Given the description of an element on the screen output the (x, y) to click on. 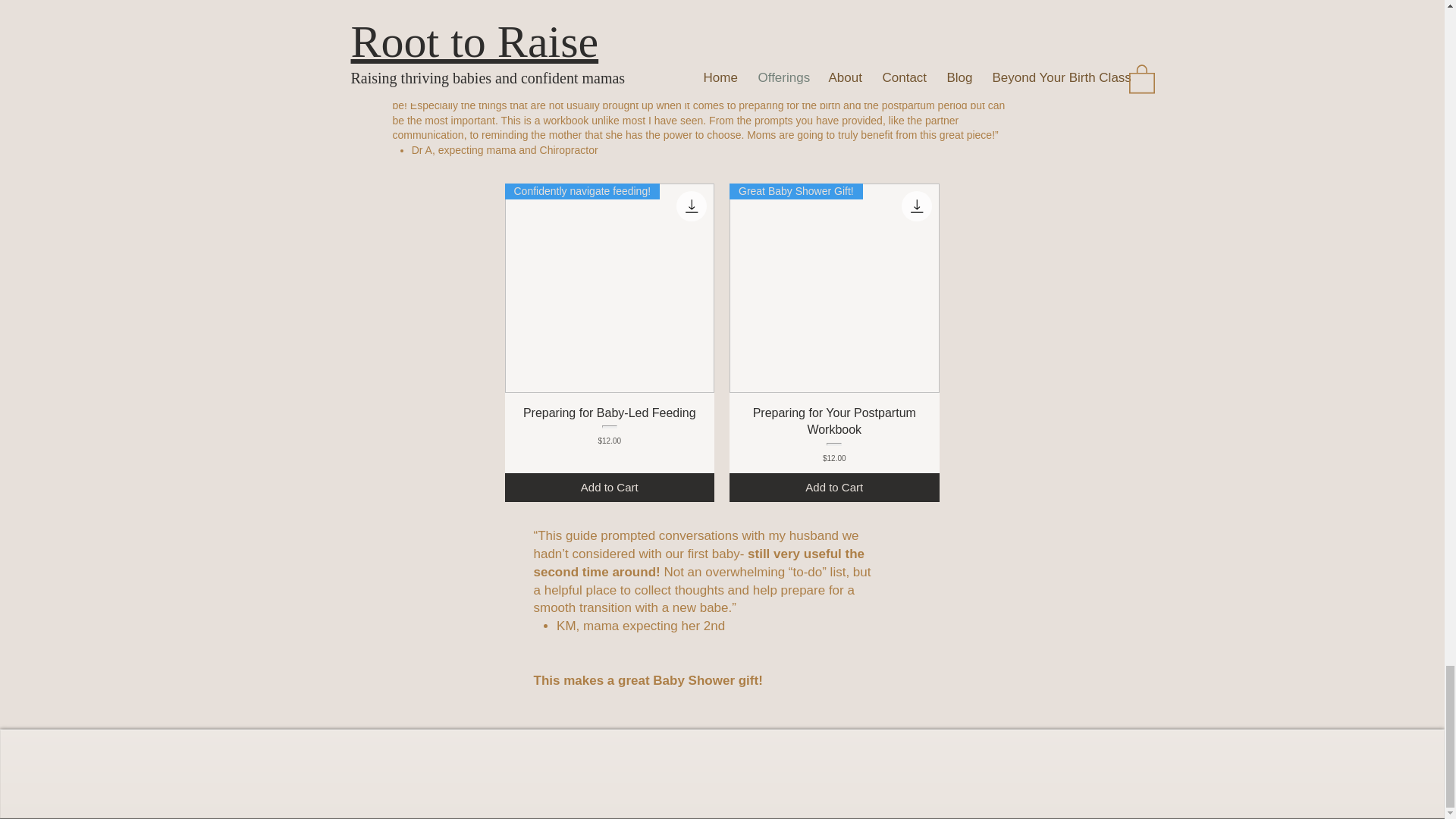
Confidently navigate feeding! (609, 288)
Add to Cart (834, 487)
Add to Cart (609, 487)
Great Baby Shower Gift! (834, 288)
